Given the description of an element on the screen output the (x, y) to click on. 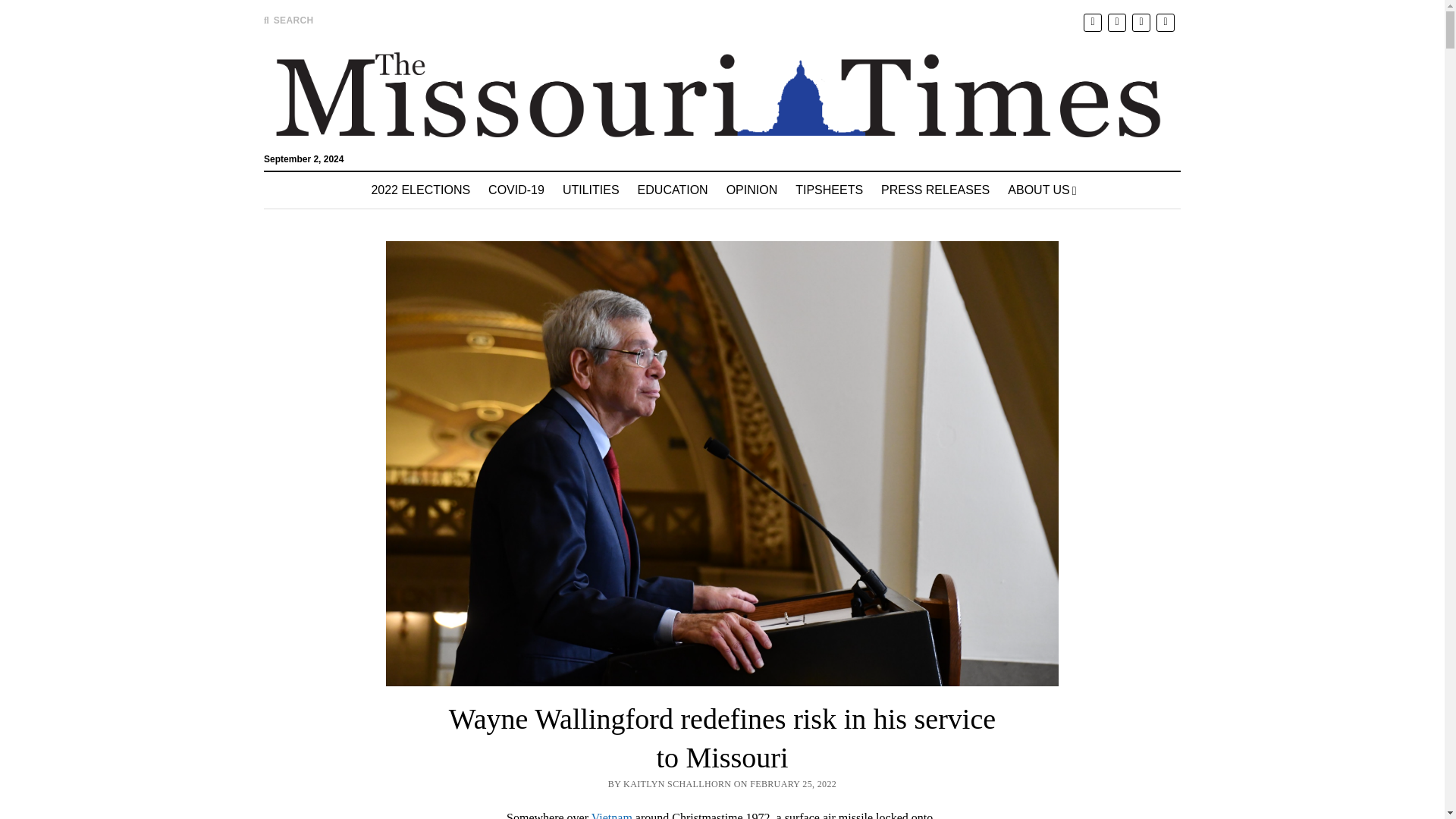
PRESS RELEASES (935, 189)
ABOUT US (1041, 189)
UTILITIES (590, 189)
Vietnam (611, 815)
2022 ELECTIONS (420, 189)
EDUCATION (672, 189)
COVID-19 (516, 189)
Search (945, 129)
SEARCH (288, 20)
OPINION (752, 189)
